Given the description of an element on the screen output the (x, y) to click on. 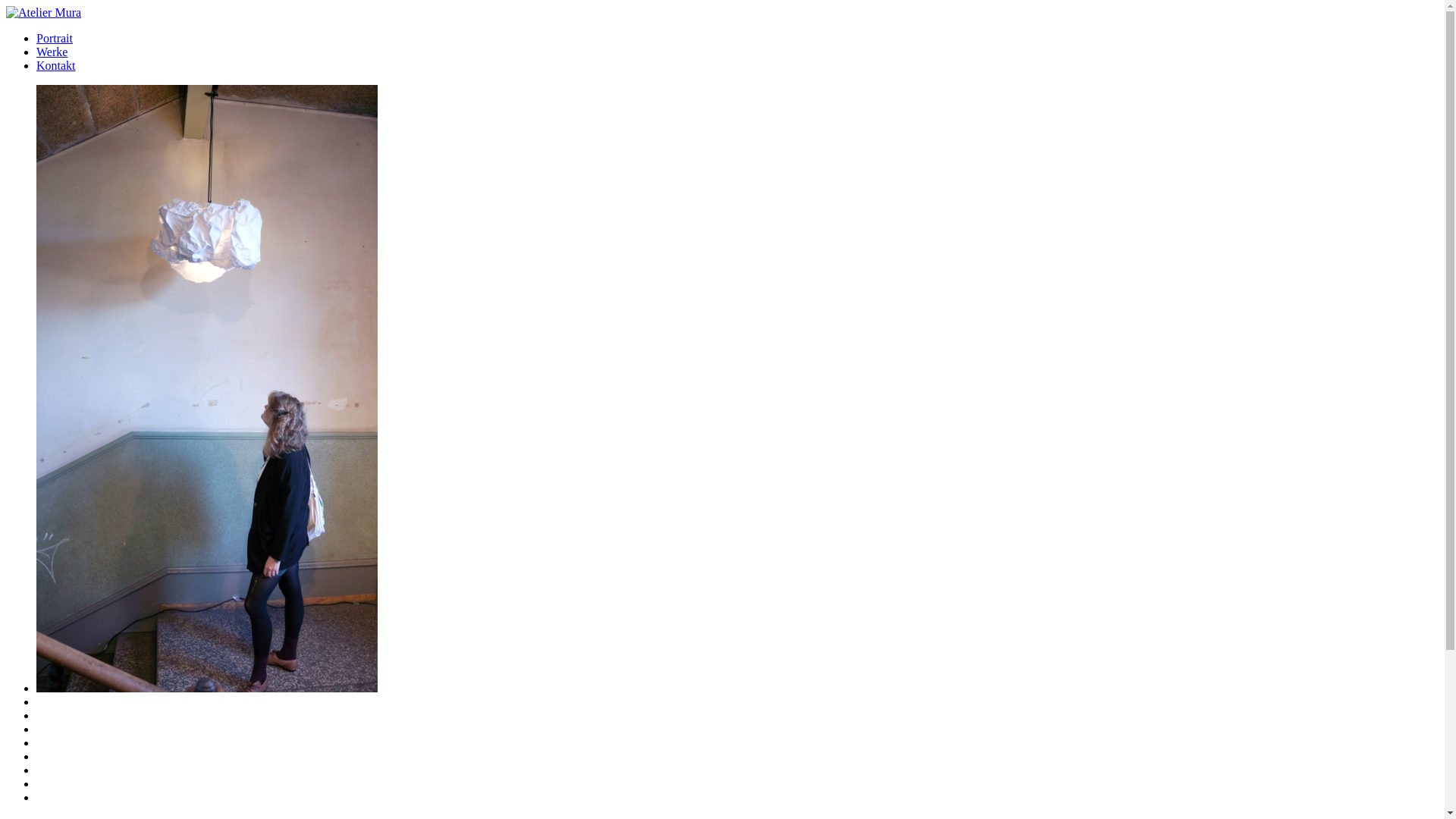
Kontakt Element type: text (55, 65)
Werke Element type: text (51, 51)
Atelier Mura Element type: hover (43, 12)
Portrait Element type: text (54, 37)
